Given the description of an element on the screen output the (x, y) to click on. 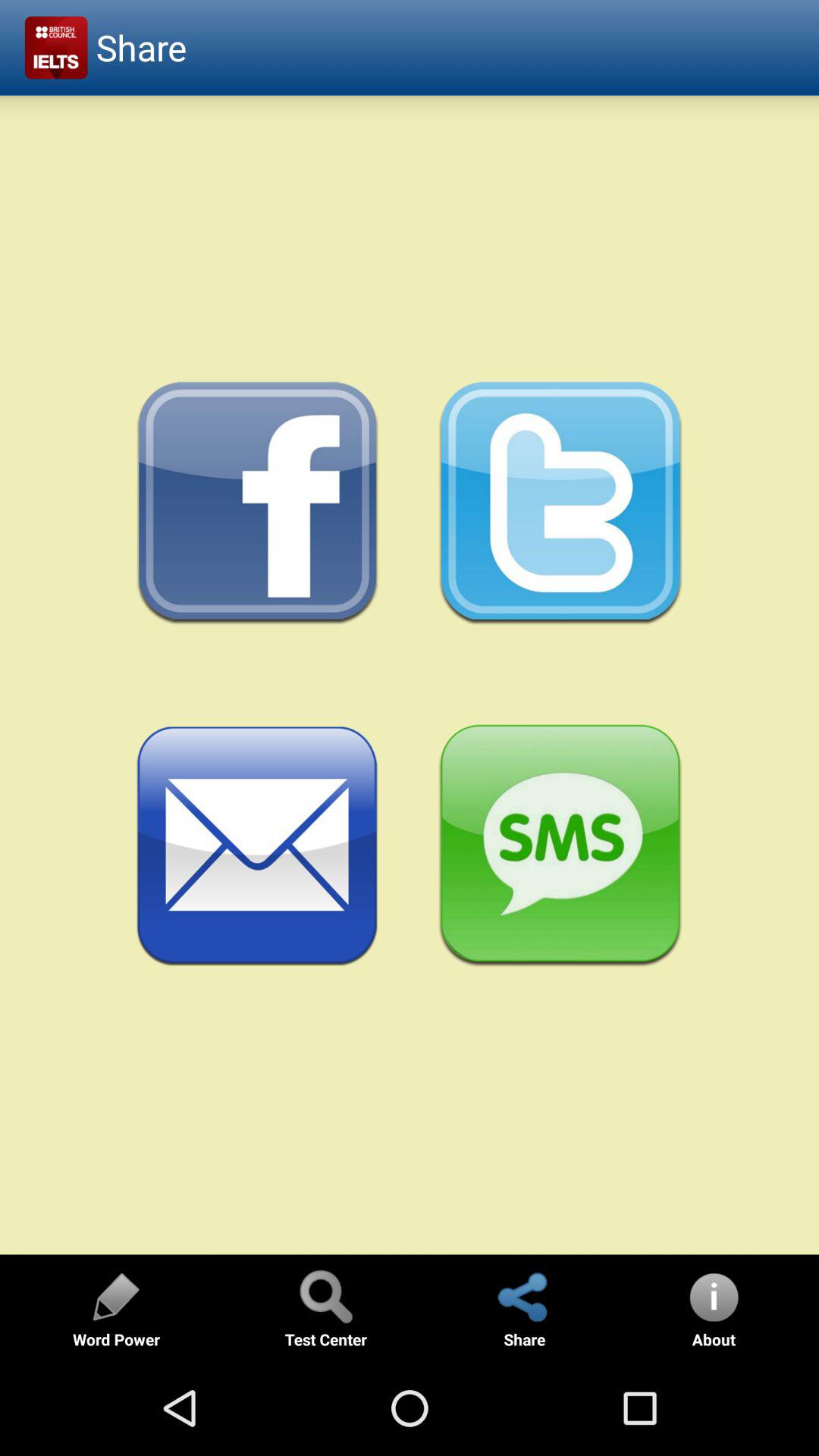
share tweet (560, 503)
